Given the description of an element on the screen output the (x, y) to click on. 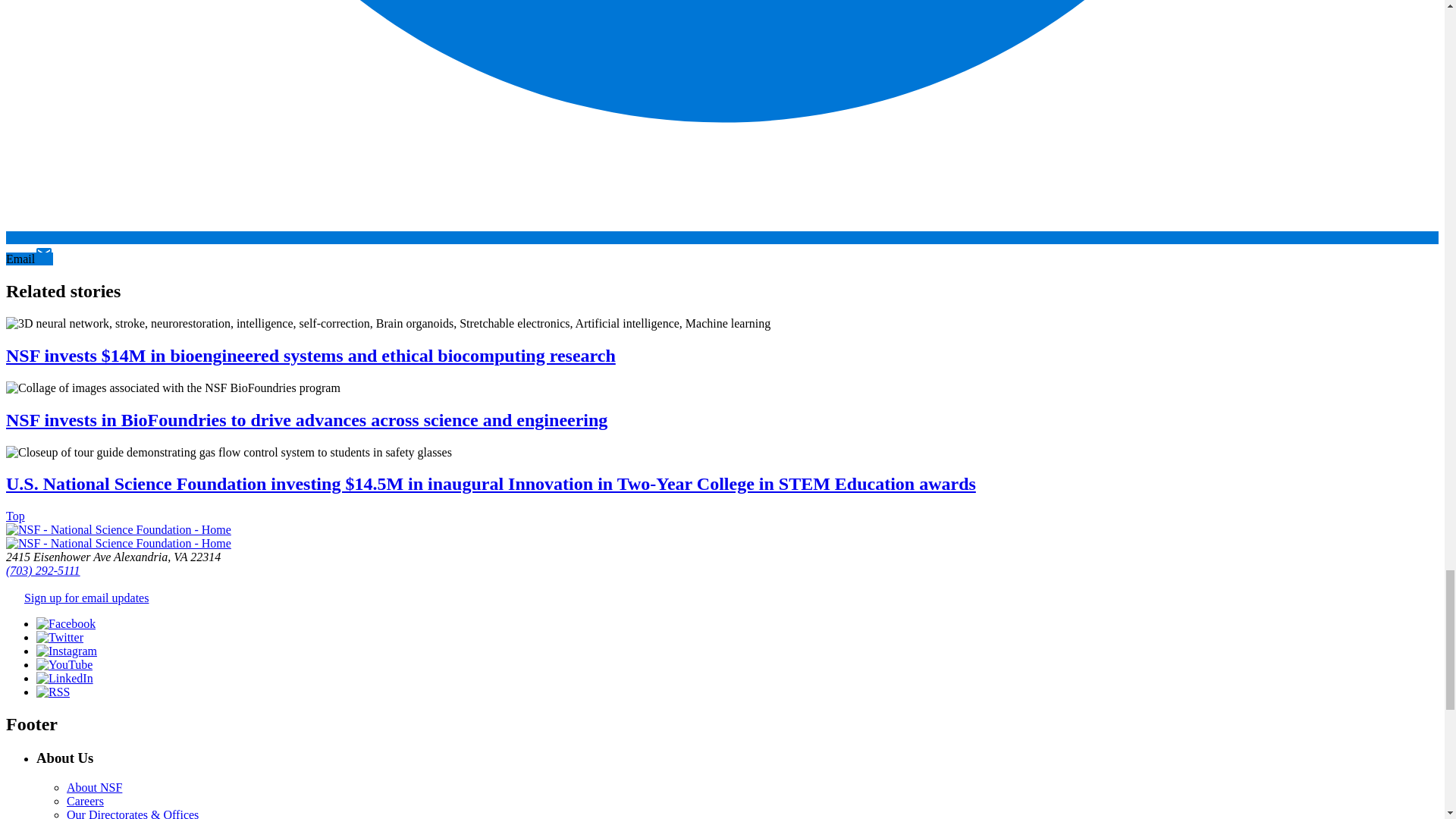
Email (28, 258)
Top (14, 515)
Sign up for email updates (86, 597)
